Given the description of an element on the screen output the (x, y) to click on. 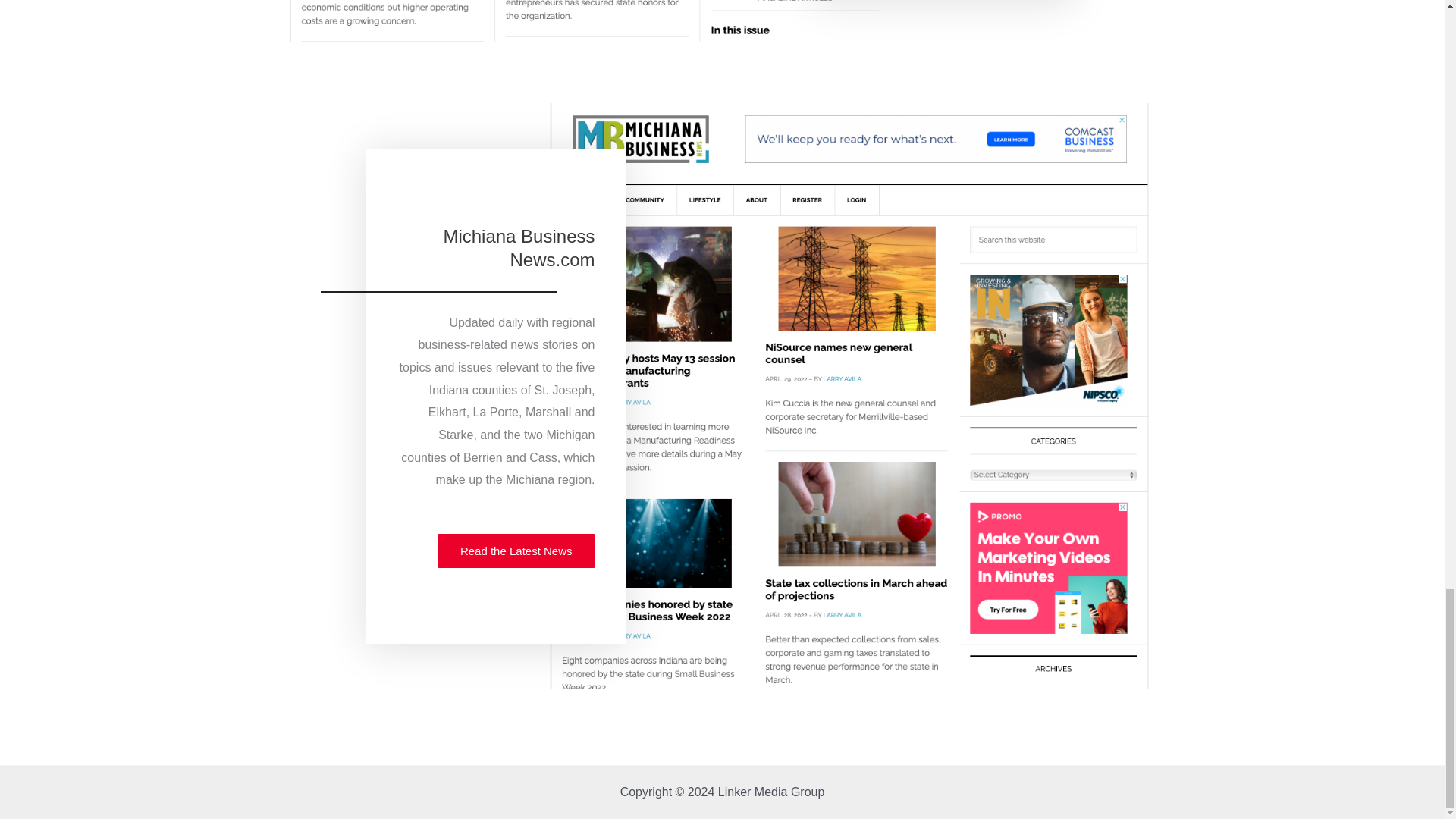
Read the Latest News (516, 550)
